Given the description of an element on the screen output the (x, y) to click on. 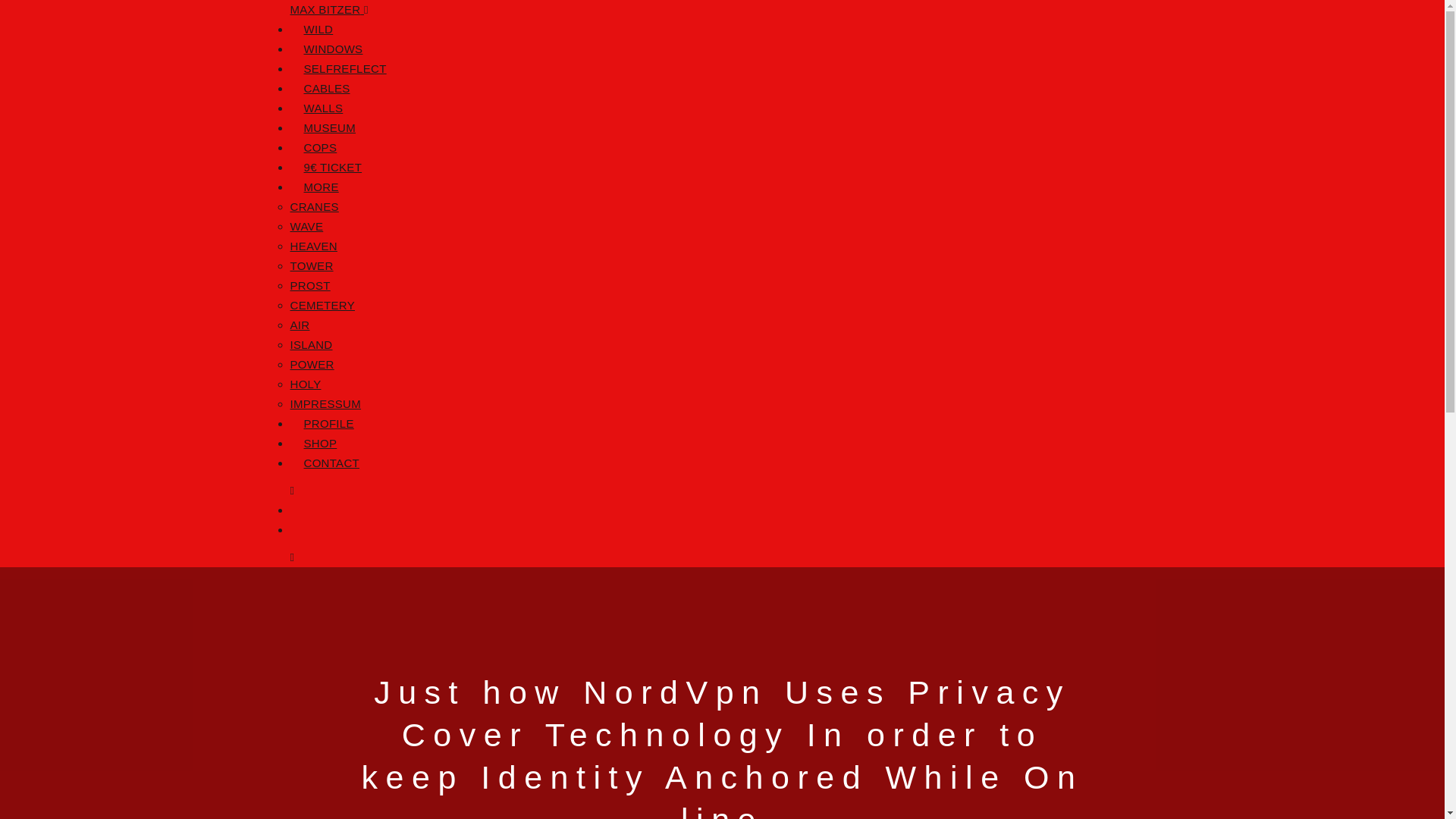
WAVE (306, 226)
HEAVEN (312, 245)
IMPRESSUM (325, 403)
MUSEUM (328, 127)
PROST (309, 285)
AIR (298, 324)
CRANES (313, 205)
MAX BITZER (325, 9)
COPS (319, 146)
POWER (311, 364)
ISLAND (310, 344)
HOLY (304, 383)
CEMETERY (321, 305)
MORE (319, 186)
PROFILE (327, 422)
